Given the description of an element on the screen output the (x, y) to click on. 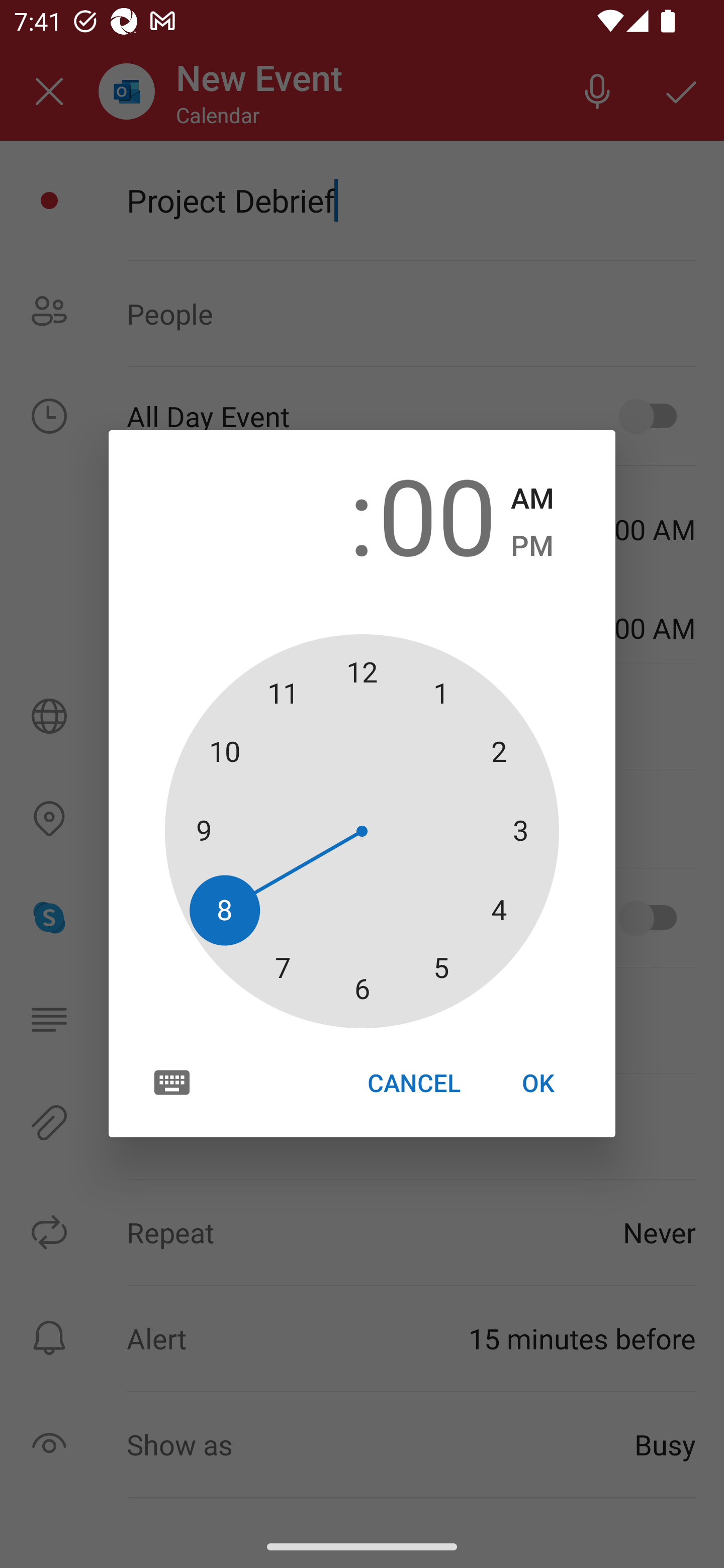
8 (285, 513)
00 (436, 513)
AM (532, 498)
PM (532, 546)
CANCEL (413, 1082)
OK (537, 1082)
Switch to text input mode for the time input. (171, 1081)
